Given the description of an element on the screen output the (x, y) to click on. 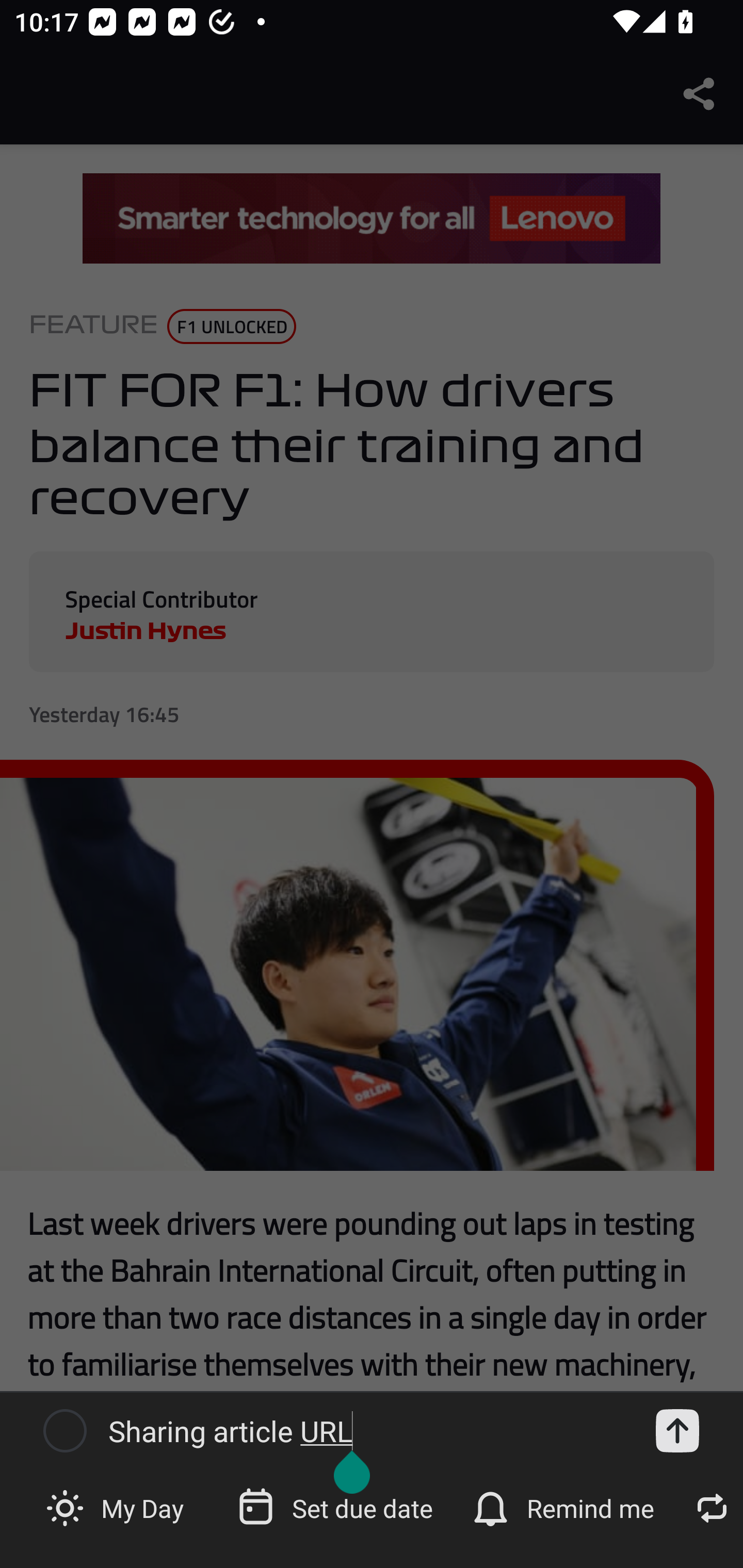
Add a task (676, 1430)
Sharing article URL (366, 1430)
My Day (116, 1507)
Set due date (337, 1507)
Remind me (565, 1507)
